Given the description of an element on the screen output the (x, y) to click on. 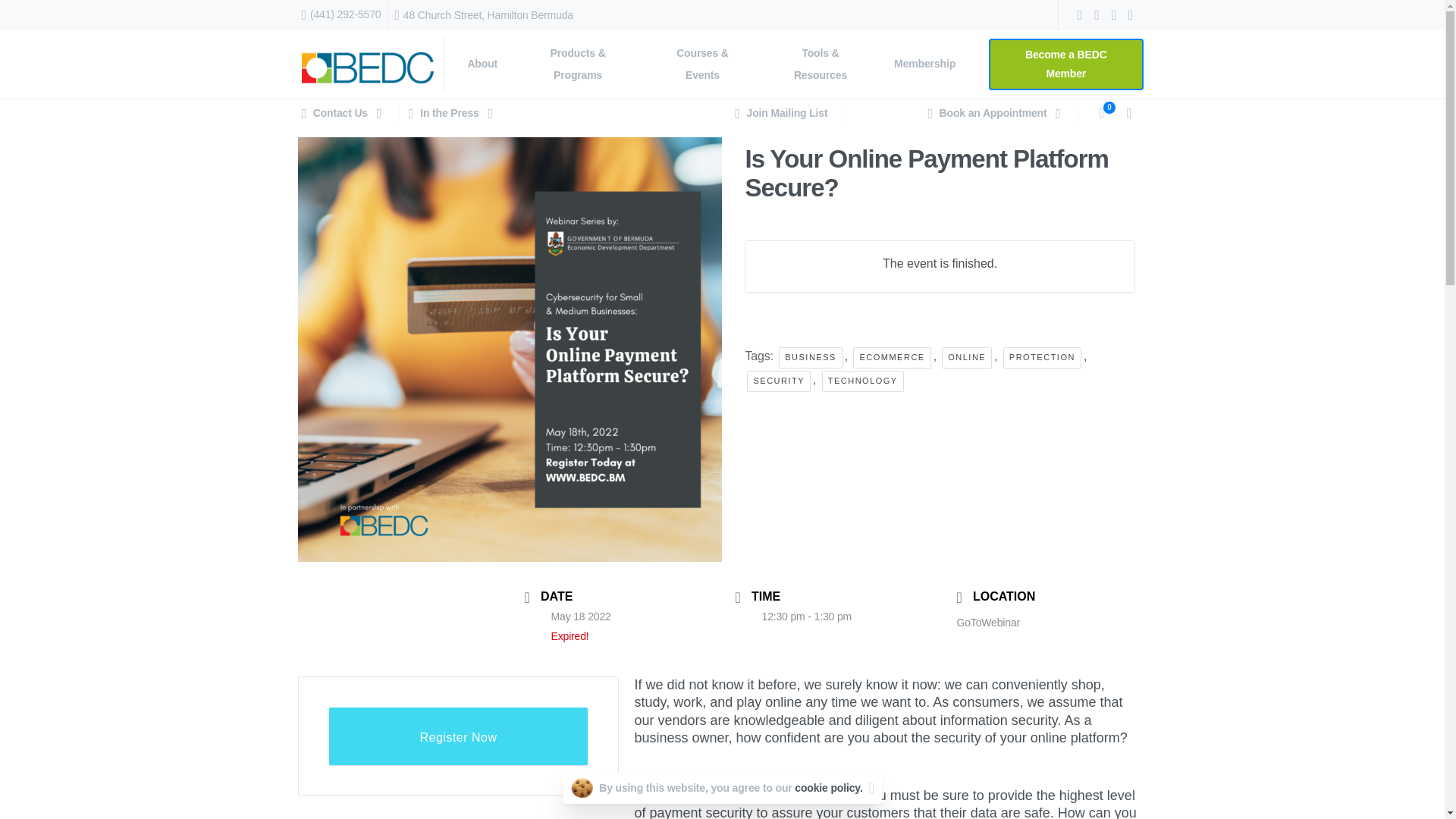
Facebook (1079, 15)
Instagram (1130, 15)
YouTube (1113, 15)
X (1096, 15)
About (482, 63)
About (482, 63)
